Given the description of an element on the screen output the (x, y) to click on. 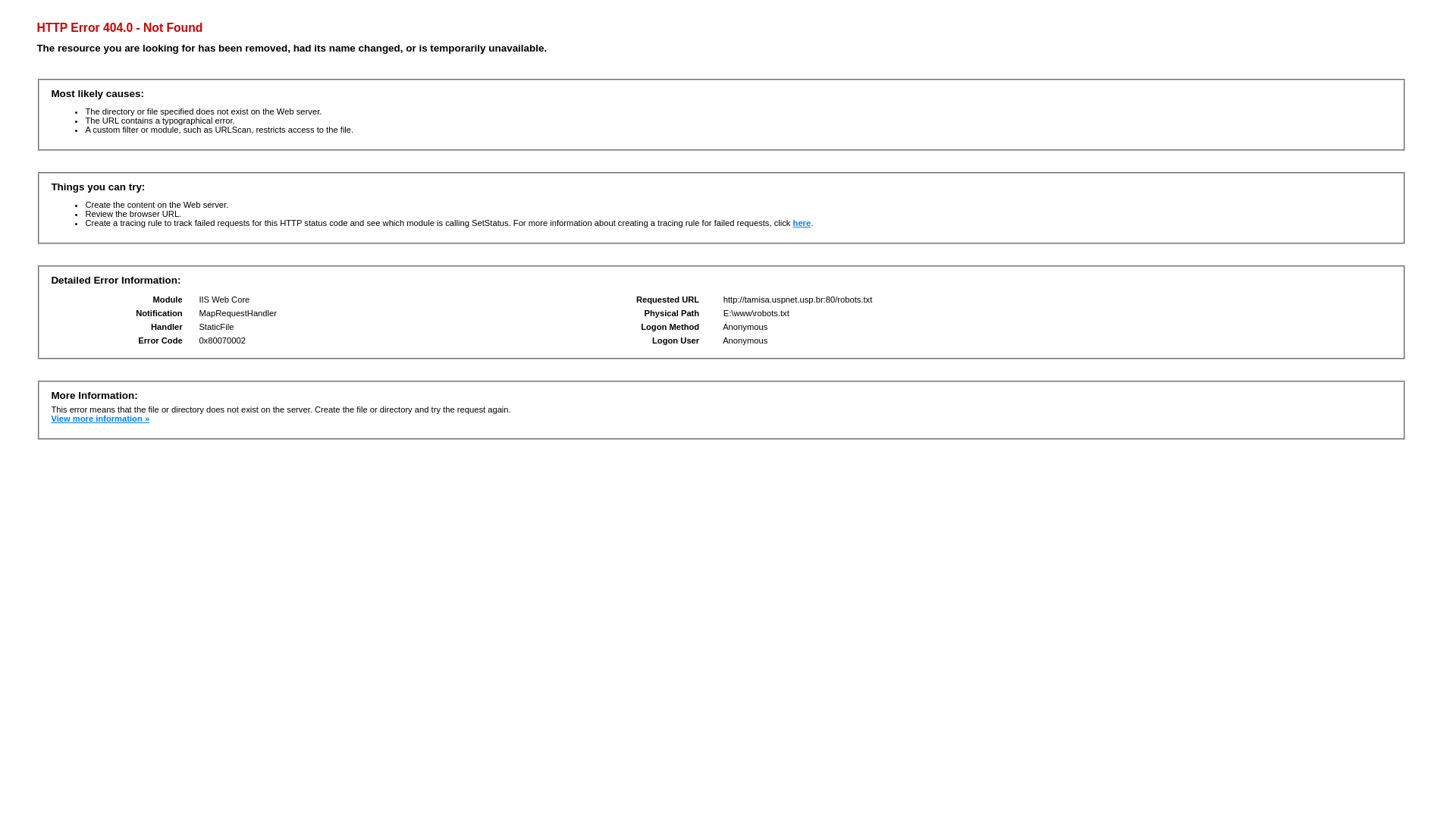
here Element type: text (802, 222)
